Given the description of an element on the screen output the (x, y) to click on. 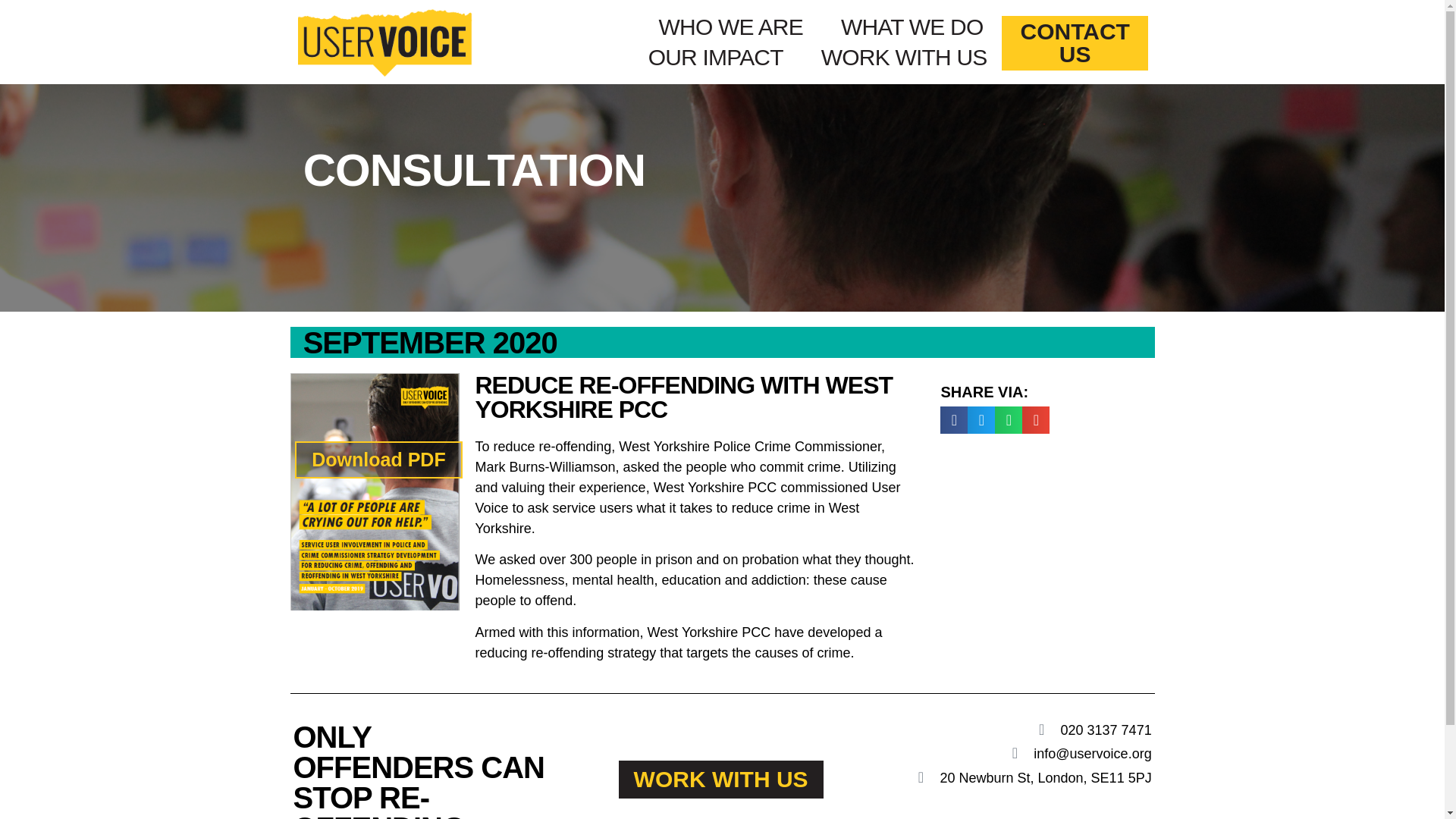
Download PDF (378, 459)
WORK WITH US (721, 779)
WHAT WE DO (911, 27)
CONTACT US (1074, 42)
WORK WITH US (904, 57)
OUR IMPACT (715, 57)
WHO WE ARE (730, 27)
